Given the description of an element on the screen output the (x, y) to click on. 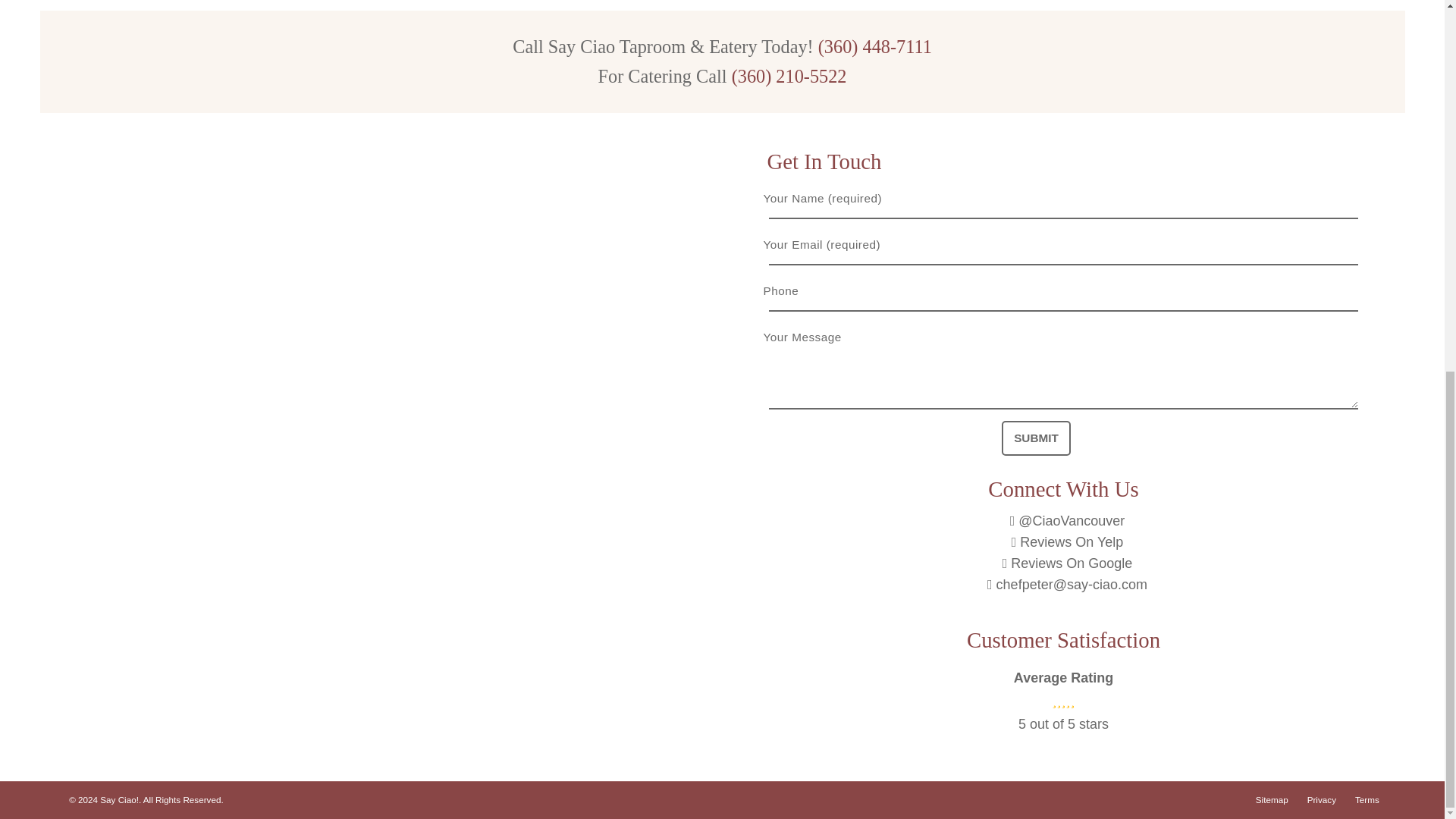
Submit (1035, 437)
